Given the description of an element on the screen output the (x, y) to click on. 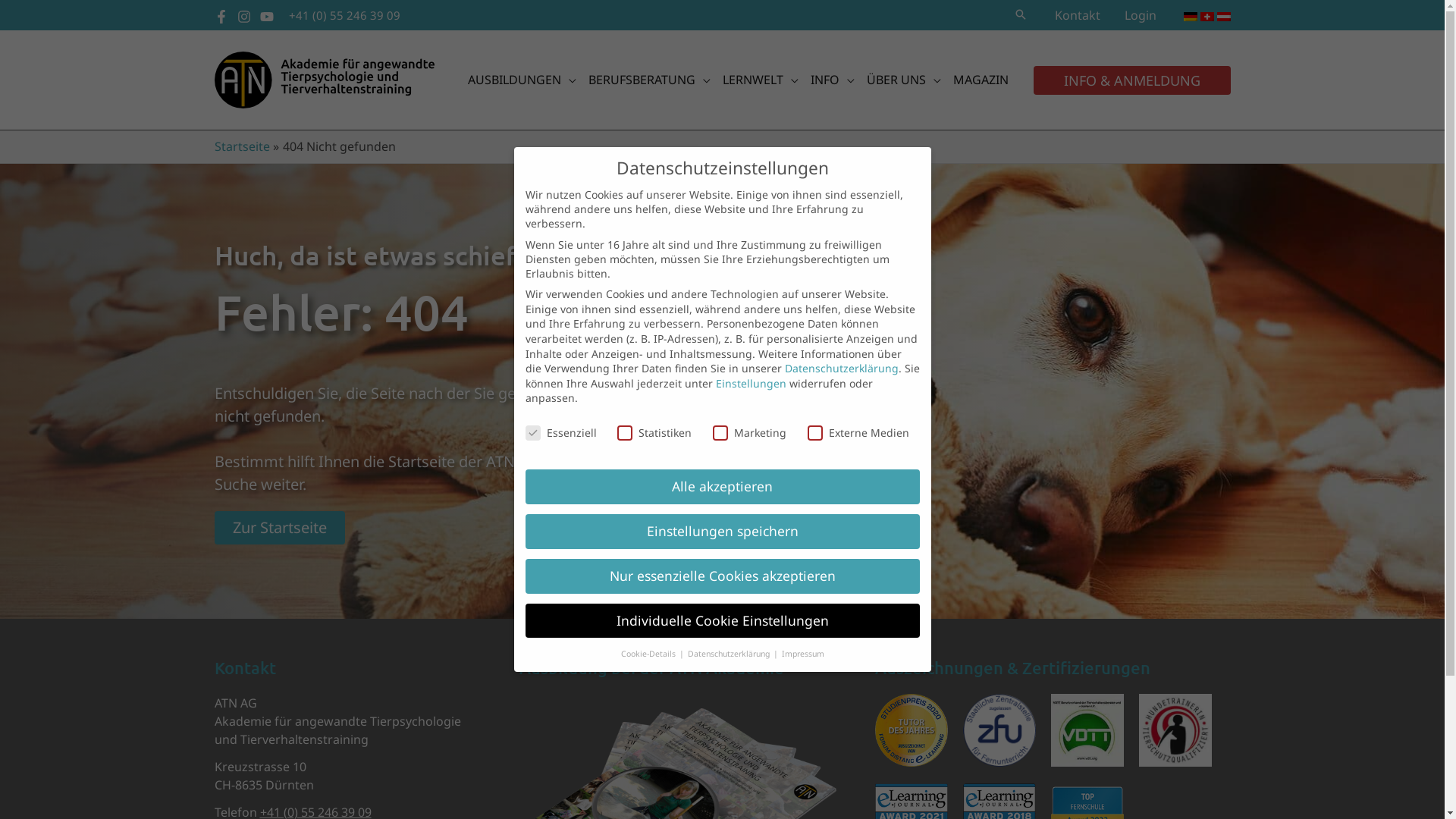
AUSBILDUNGEN Element type: text (521, 79)
INFO & ANMELDUNG Element type: text (1131, 79)
Startseite Element type: text (241, 146)
Kontakt Element type: text (1076, 15)
Zur Startseite Element type: text (278, 527)
LERNWELT Element type: text (759, 79)
BERUFSBERATUNG Element type: text (649, 79)
Login Element type: text (1139, 15)
INFO Element type: text (831, 79)
Einstellungen speichern Element type: text (721, 531)
Cookie-Details Element type: text (648, 653)
Einstellungen Element type: text (750, 383)
+41 (0) 55 246 39 09 Element type: text (343, 14)
Alle akzeptieren Element type: text (721, 486)
Impressum Element type: text (802, 653)
MAGAZIN Element type: text (979, 79)
Nur essenzielle Cookies akzeptieren Element type: text (721, 575)
Individuelle Cookie Einstellungen Element type: text (721, 620)
